Given the description of an element on the screen output the (x, y) to click on. 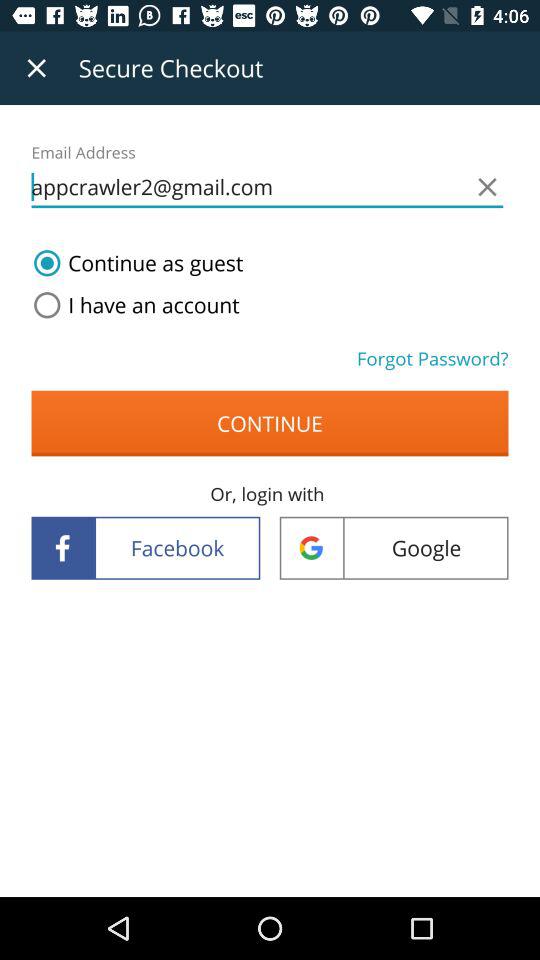
click the item above i have an item (134, 263)
